Given the description of an element on the screen output the (x, y) to click on. 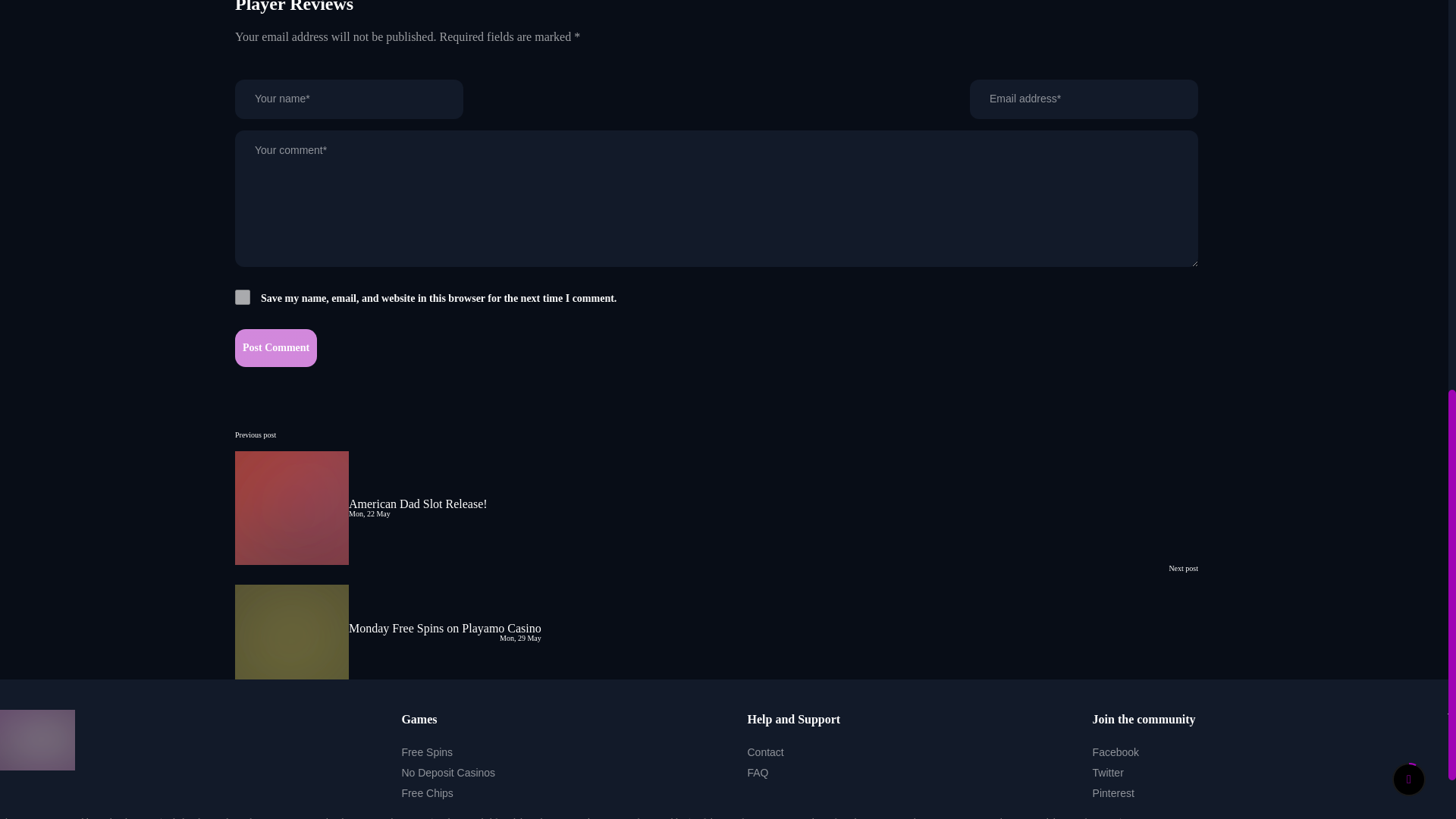
Post Comment (275, 347)
yes (242, 296)
Next post (1183, 568)
Post Comment (275, 347)
Previous post (255, 434)
